Given the description of an element on the screen output the (x, y) to click on. 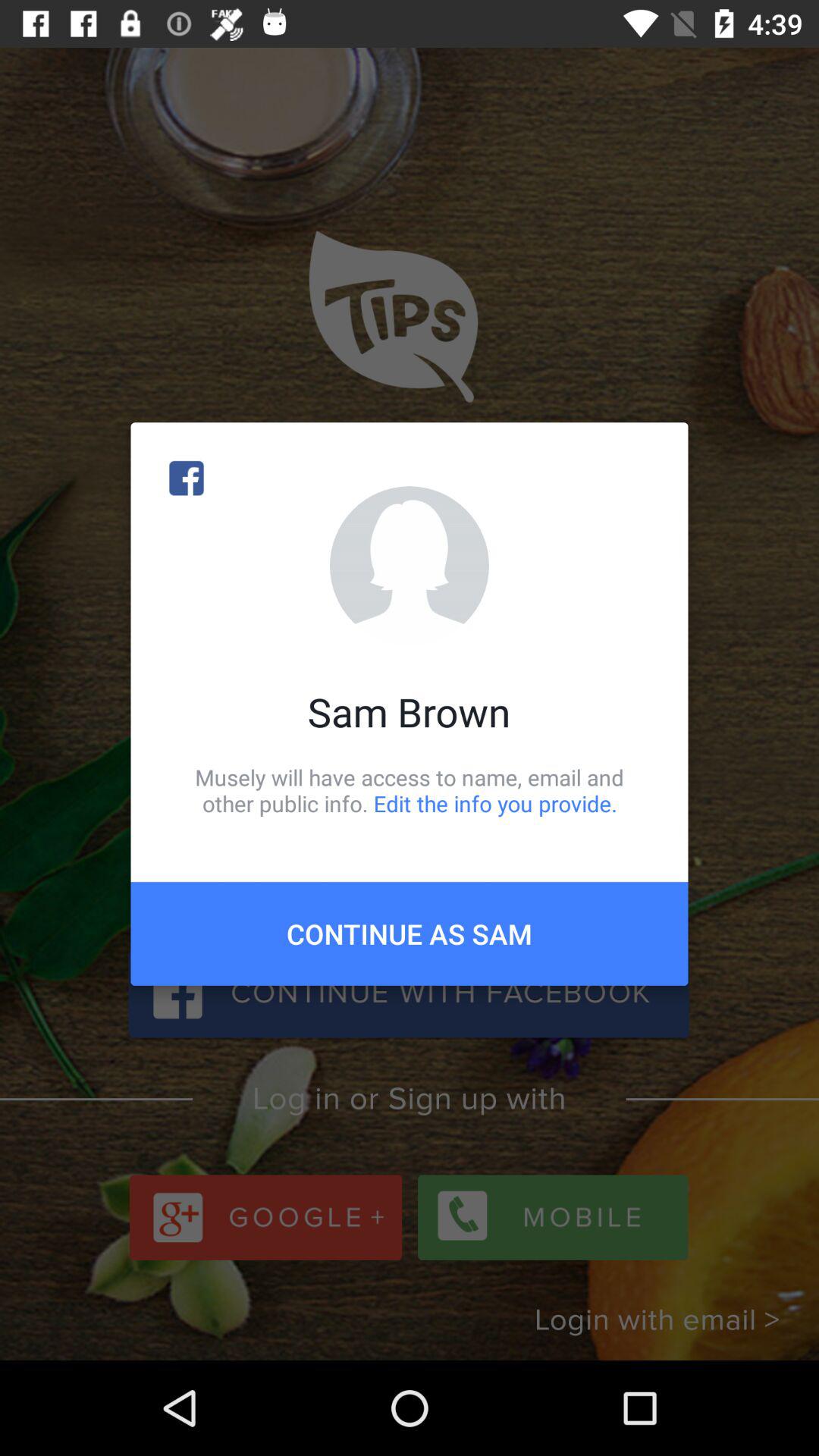
scroll until continue as sam (409, 933)
